Given the description of an element on the screen output the (x, y) to click on. 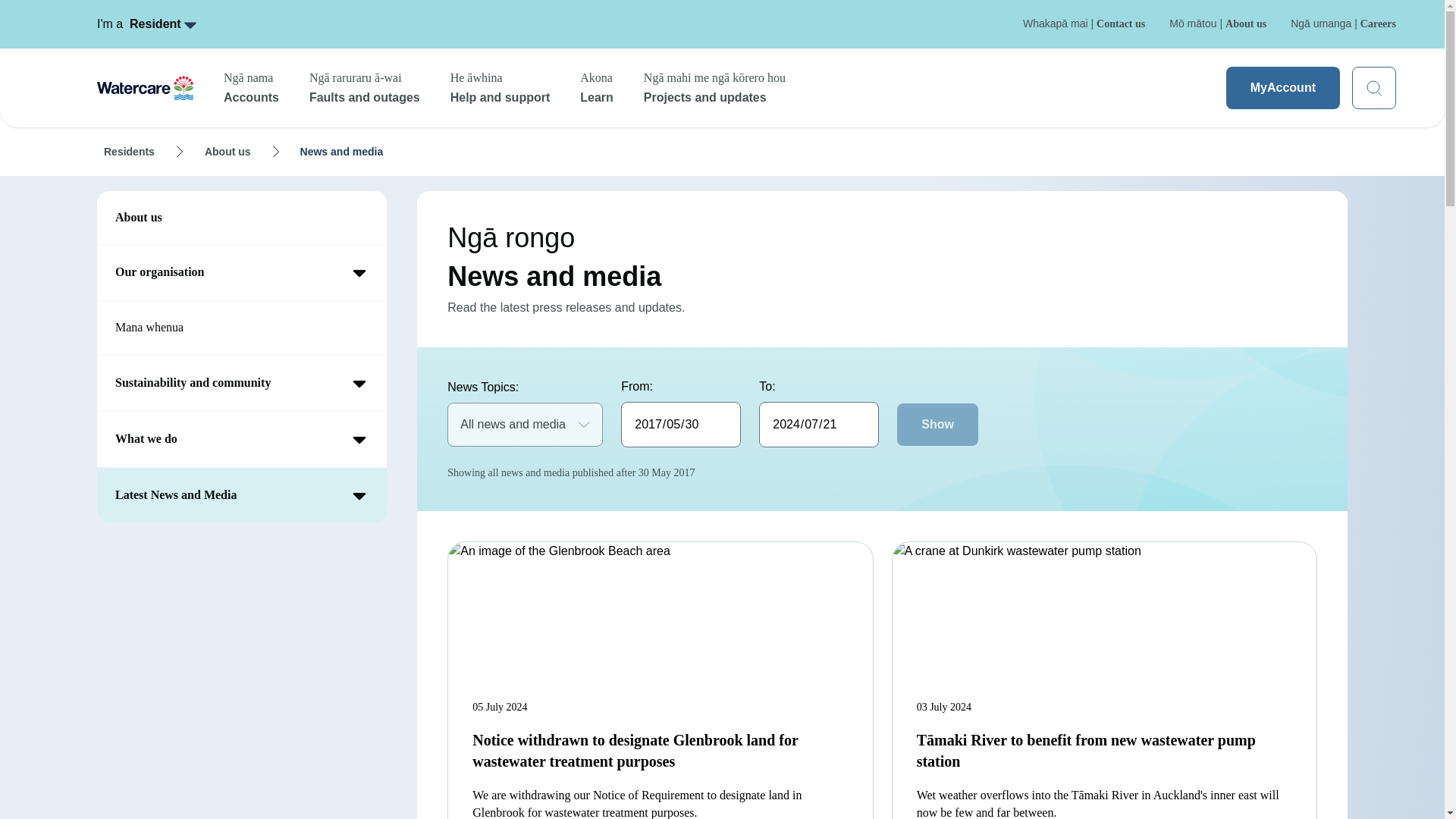
MyAccount (1282, 87)
2017-05-30 (681, 424)
About us (595, 88)
Residents (227, 151)
2024-07-21 (129, 151)
